Given the description of an element on the screen output the (x, y) to click on. 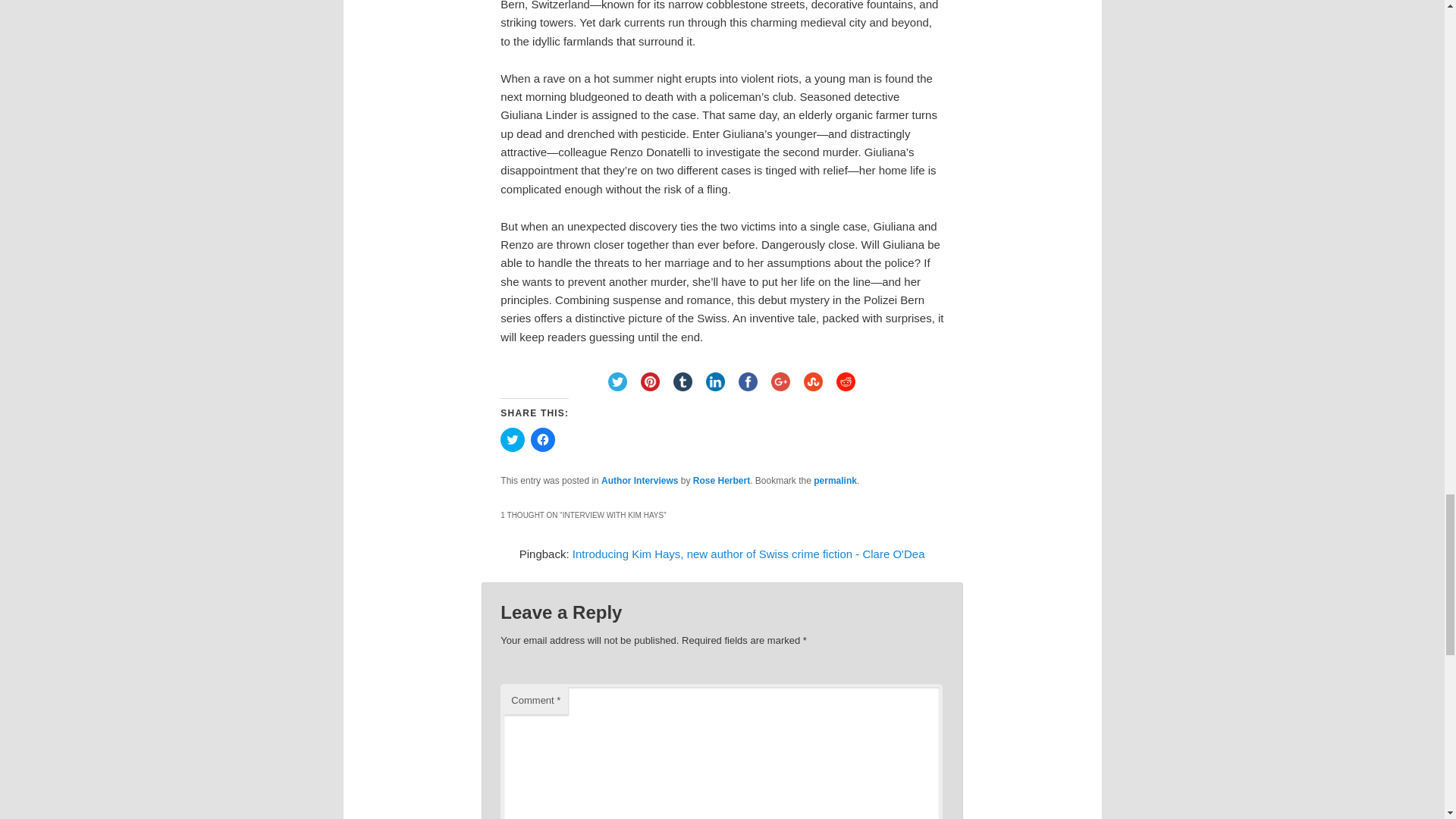
twitter (617, 381)
linkedin (715, 381)
stumbleupon (812, 381)
google (780, 381)
Author Interviews (639, 480)
pinterest (649, 381)
permalink (835, 480)
tumblr (682, 381)
facebook (748, 381)
Rose Herbert (721, 480)
